Given the description of an element on the screen output the (x, y) to click on. 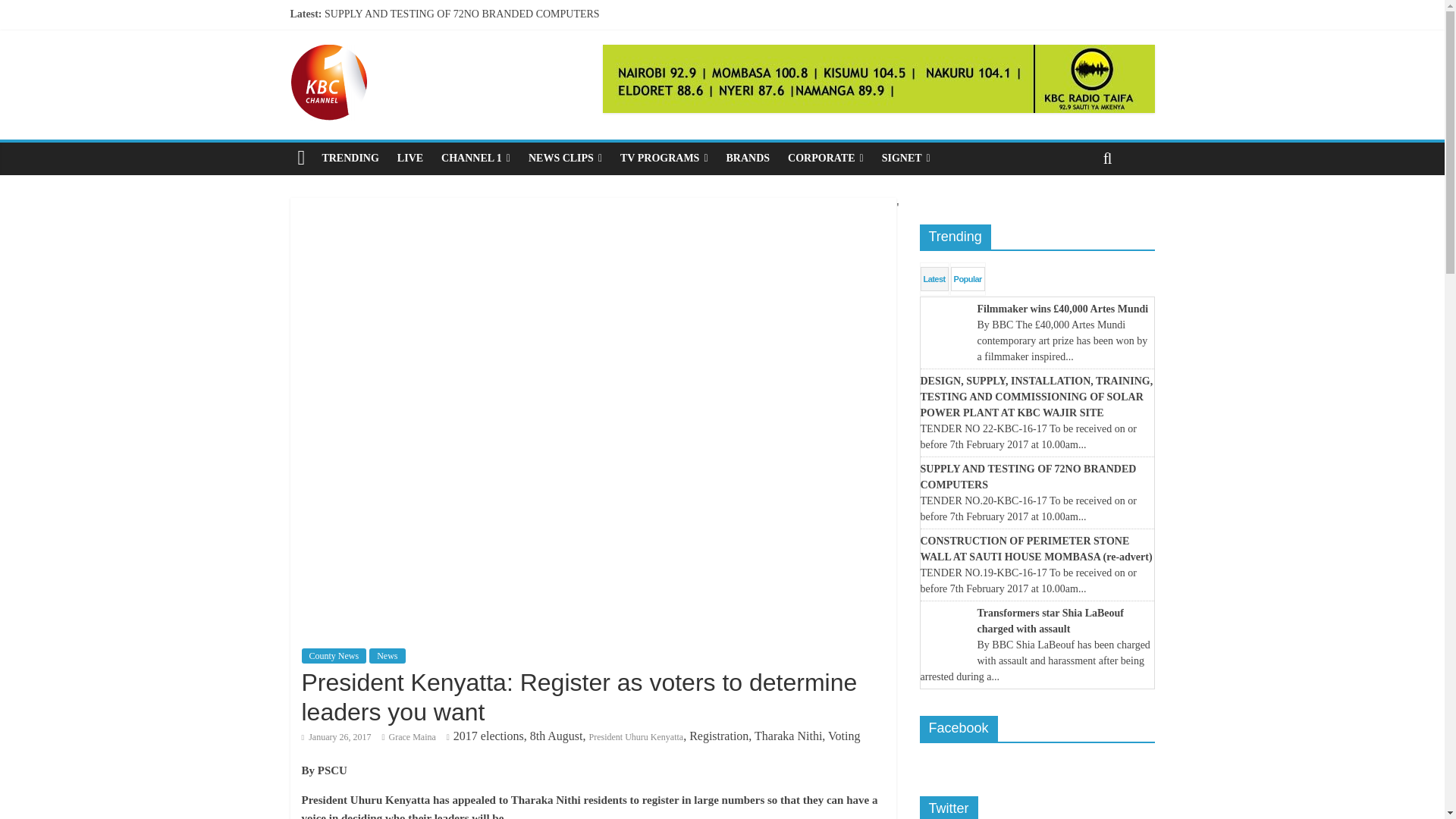
CHANNEL 1 (475, 158)
TRENDING (350, 158)
BRANDS (747, 158)
TV PROGRAMS (663, 158)
7:34 pm (336, 737)
News (386, 655)
CORPORATE (825, 158)
County News (333, 655)
January 26, 2017 (336, 737)
LIVE (410, 158)
KBC TV (327, 53)
NEWS CLIPS (565, 158)
SIGNET (905, 158)
Grace Maina (411, 737)
